Given the description of an element on the screen output the (x, y) to click on. 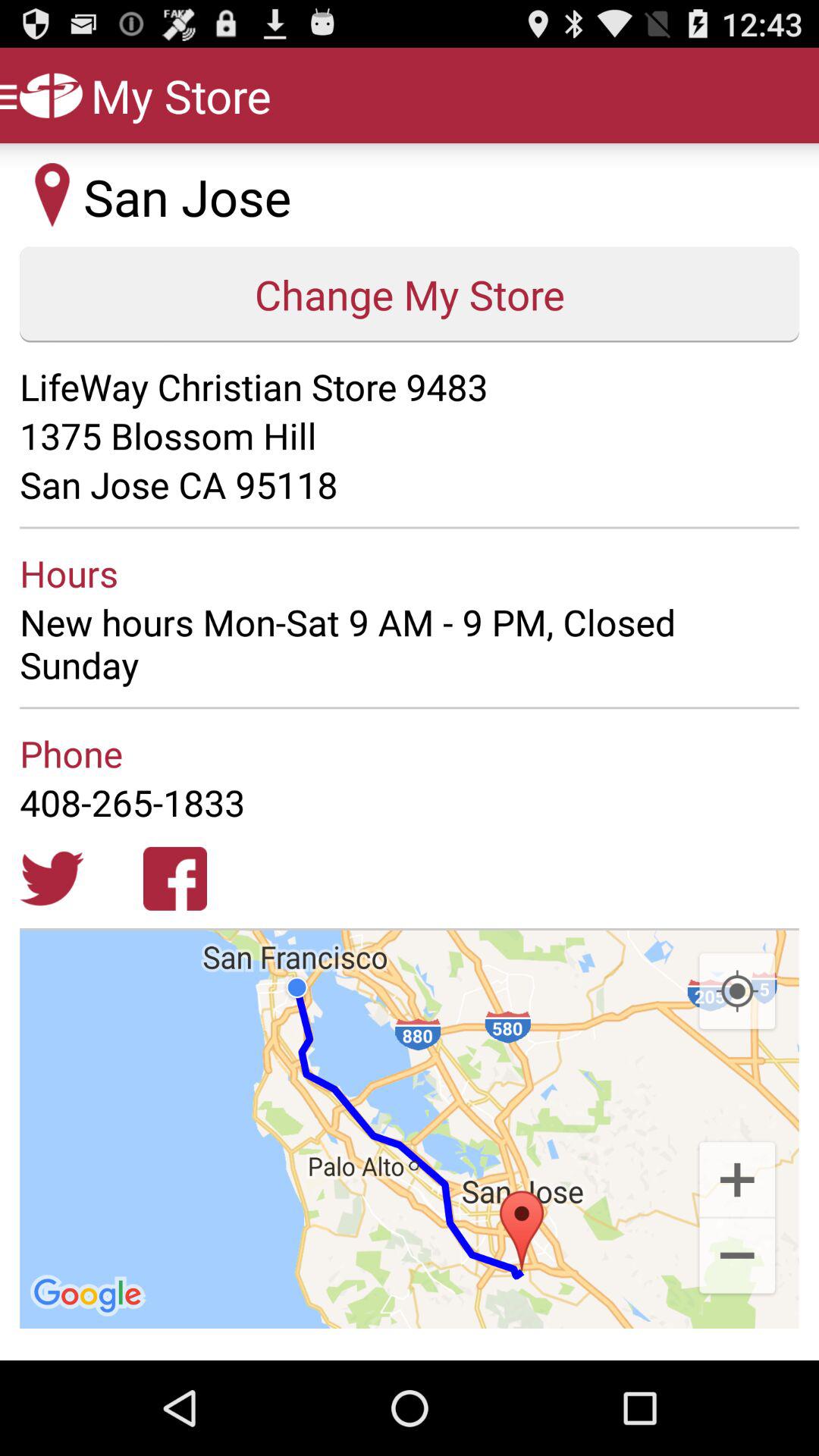
go to facebook (175, 878)
